Given the description of an element on the screen output the (x, y) to click on. 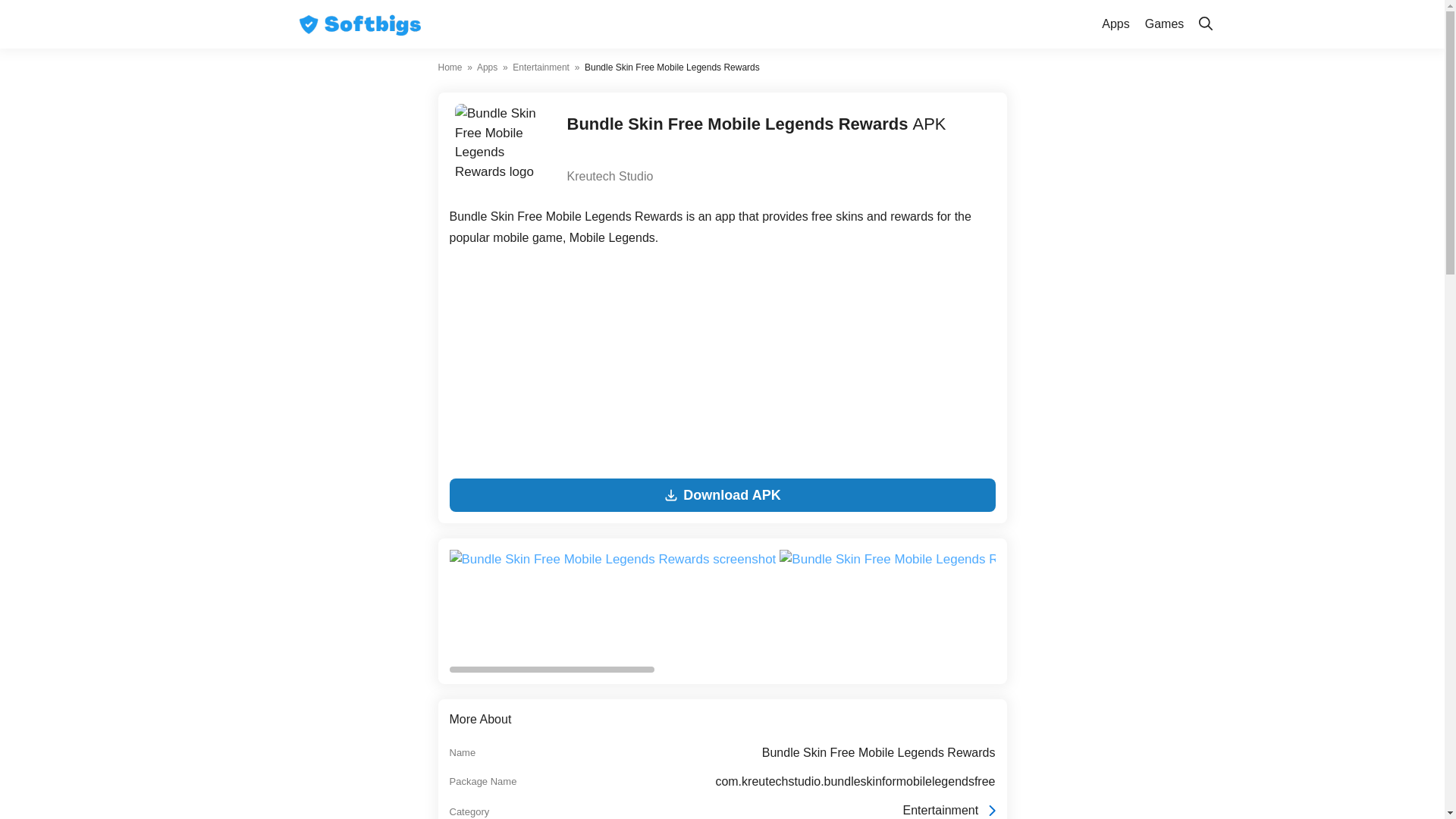
Bundle Skin Free Mobile Legends Rewards screenshot (612, 559)
Bundle Skin Free Mobile Legends Rewards screenshot (1275, 605)
Bundle Skin Free Mobile Legends Rewards screenshot (943, 605)
Bundle Skin Free Mobile Legends Rewards screenshot (613, 605)
Home (450, 67)
Bundle Skin Free Mobile Legends Rewards logo (500, 149)
Download APK (721, 494)
Advertisement (721, 366)
Bundle Skin Free Mobile Legends Rewards screenshot (1273, 559)
Bundle Skin Free Mobile Legends Rewards screenshot (942, 559)
Apps (487, 67)
Entertainment (540, 67)
